Given the description of an element on the screen output the (x, y) to click on. 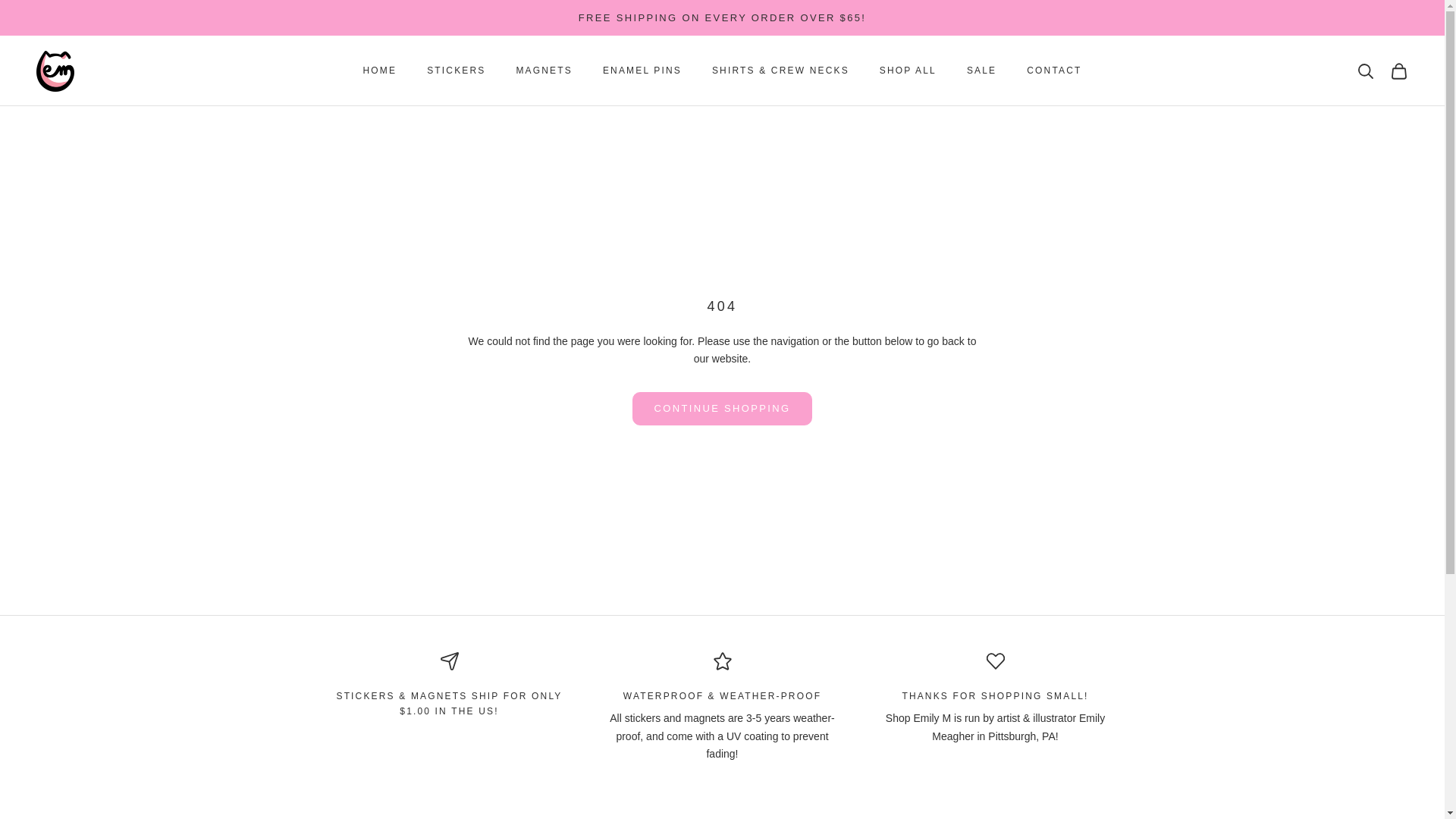
HOME (379, 70)
MAGNETS (543, 70)
Shop Emily M (55, 70)
ENAMEL PINS (641, 70)
Open cart (1398, 71)
CONTACT (1053, 70)
SALE (980, 70)
CONTINUE SHOPPING (721, 408)
Open search (1365, 71)
